Given the description of an element on the screen output the (x, y) to click on. 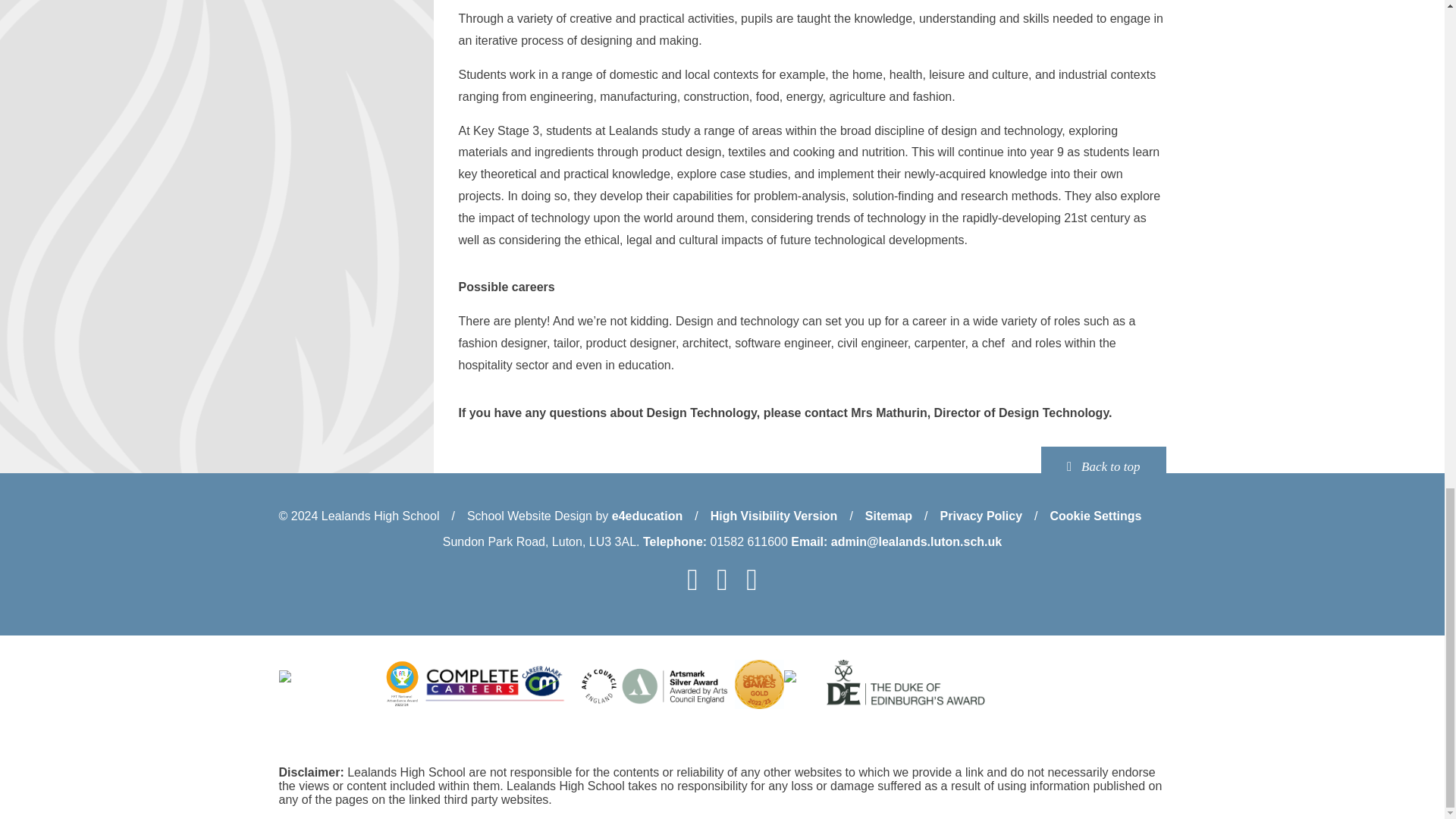
Cookie Settings (1095, 515)
e4education (646, 515)
